Given the description of an element on the screen output the (x, y) to click on. 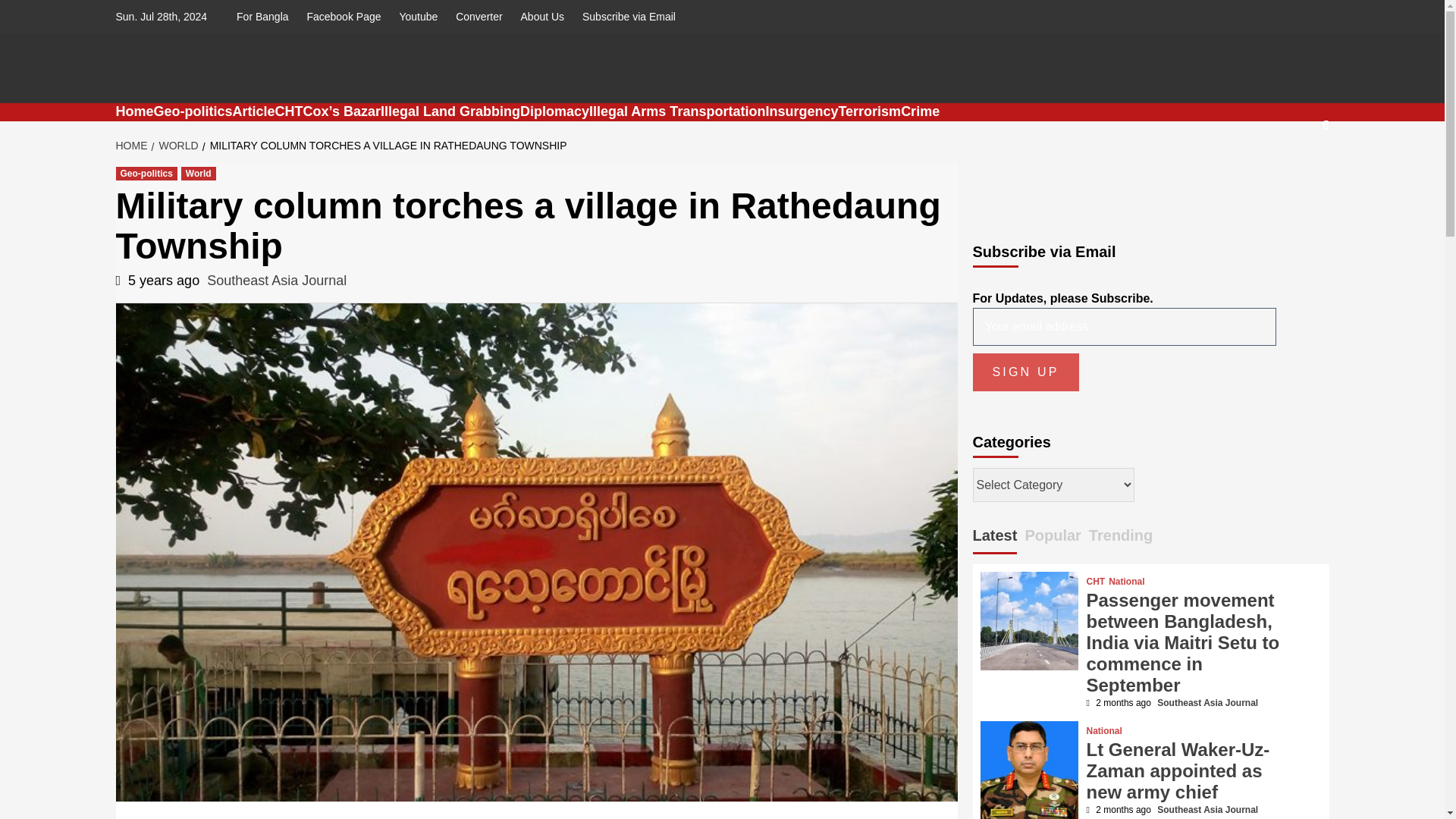
WORLD (176, 145)
Crime (920, 111)
Youtube (418, 17)
Illegal Arms Transportation (677, 111)
Subscribe via Email (628, 17)
Converter (478, 17)
Southeast Asia Journal (276, 280)
Home (133, 111)
Facebook Page (343, 17)
Geo-politics (193, 111)
Southeast Asia Journal (305, 121)
Insurgency (801, 111)
For Bangla (265, 17)
World (197, 173)
About Us (542, 17)
